Given the description of an element on the screen output the (x, y) to click on. 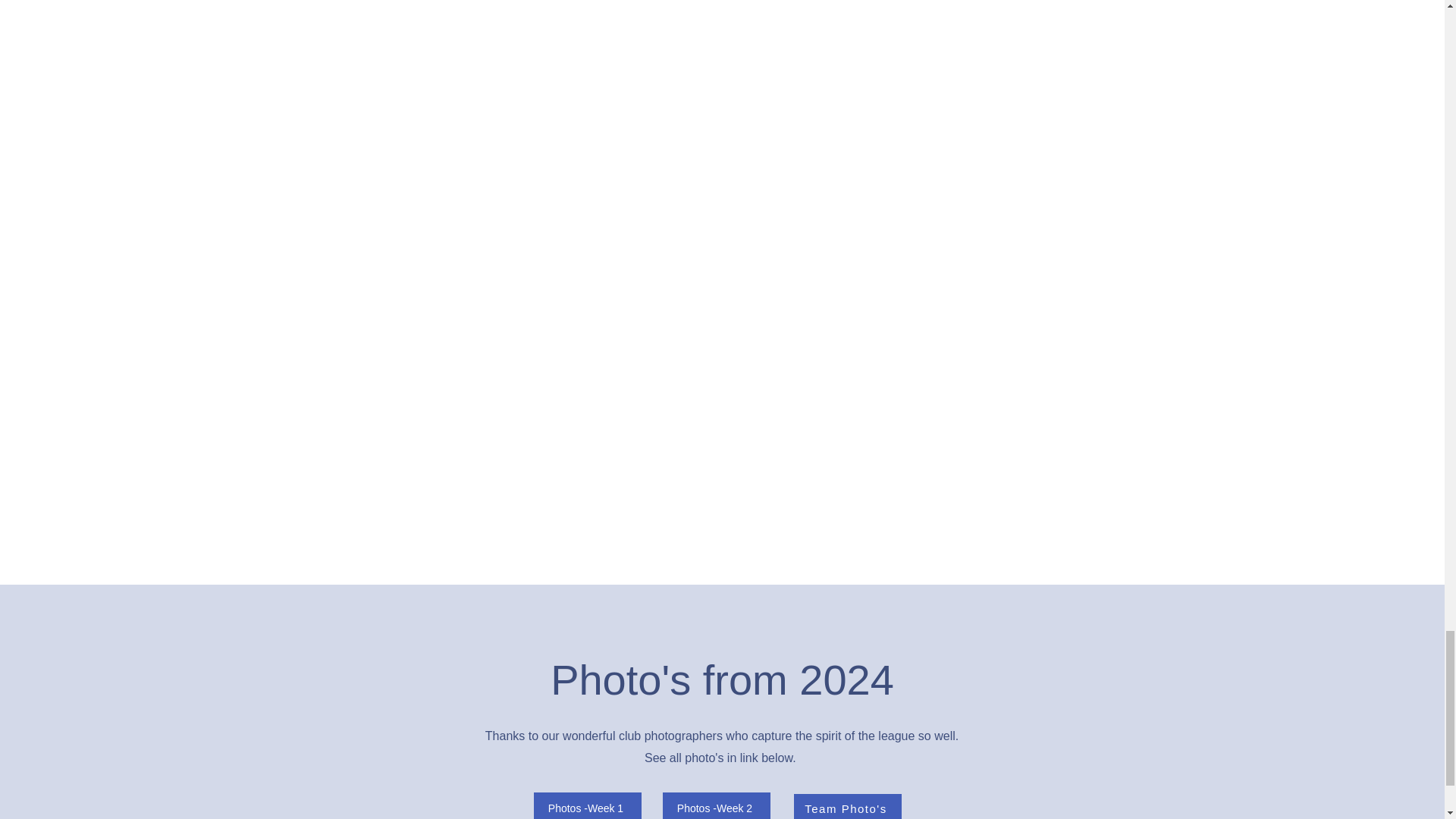
Photos -Week 1 (588, 805)
Photos -Week 2 (716, 805)
Team Photo's (847, 806)
